Given the description of an element on the screen output the (x, y) to click on. 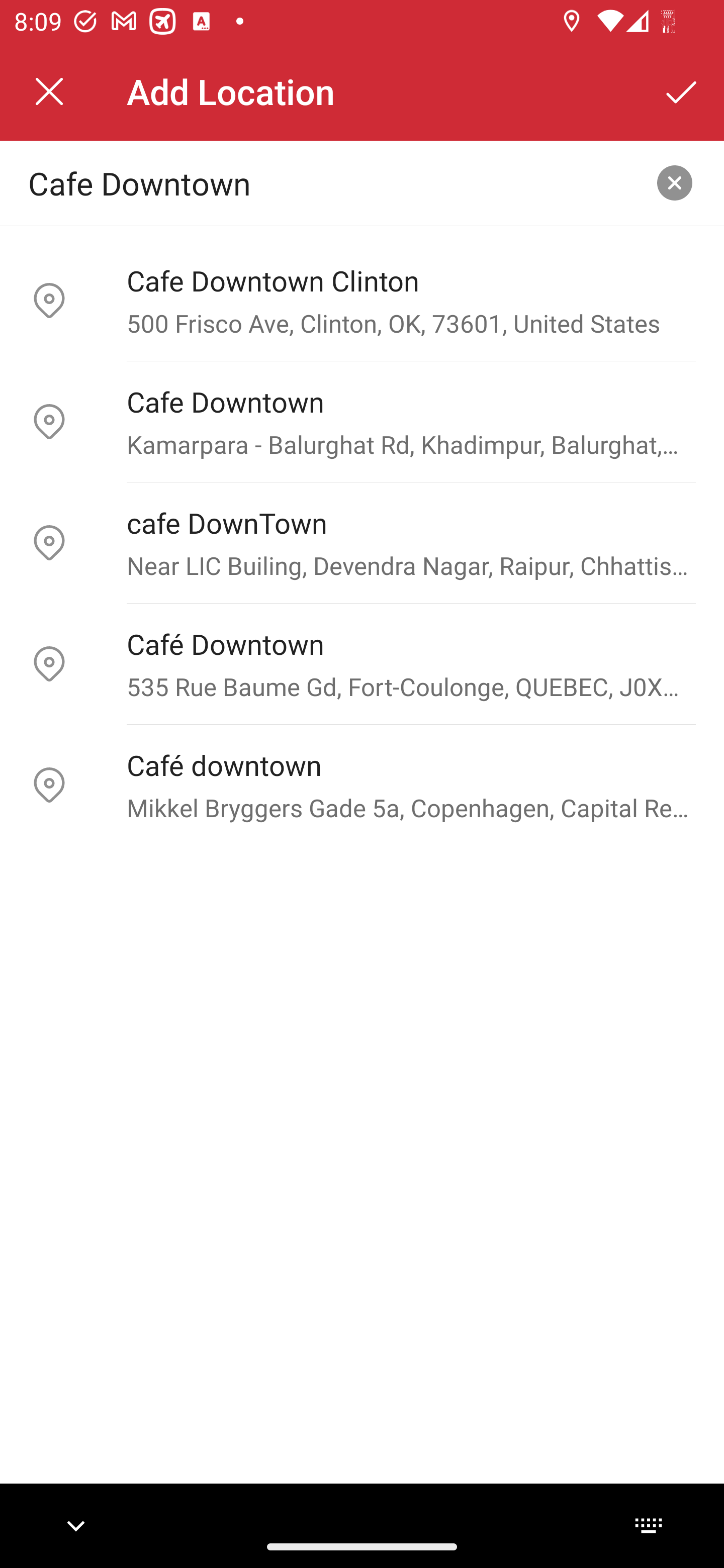
Close (49, 91)
Done (681, 91)
Clear location (674, 183)
Cafe Downtown (330, 182)
